Given the description of an element on the screen output the (x, y) to click on. 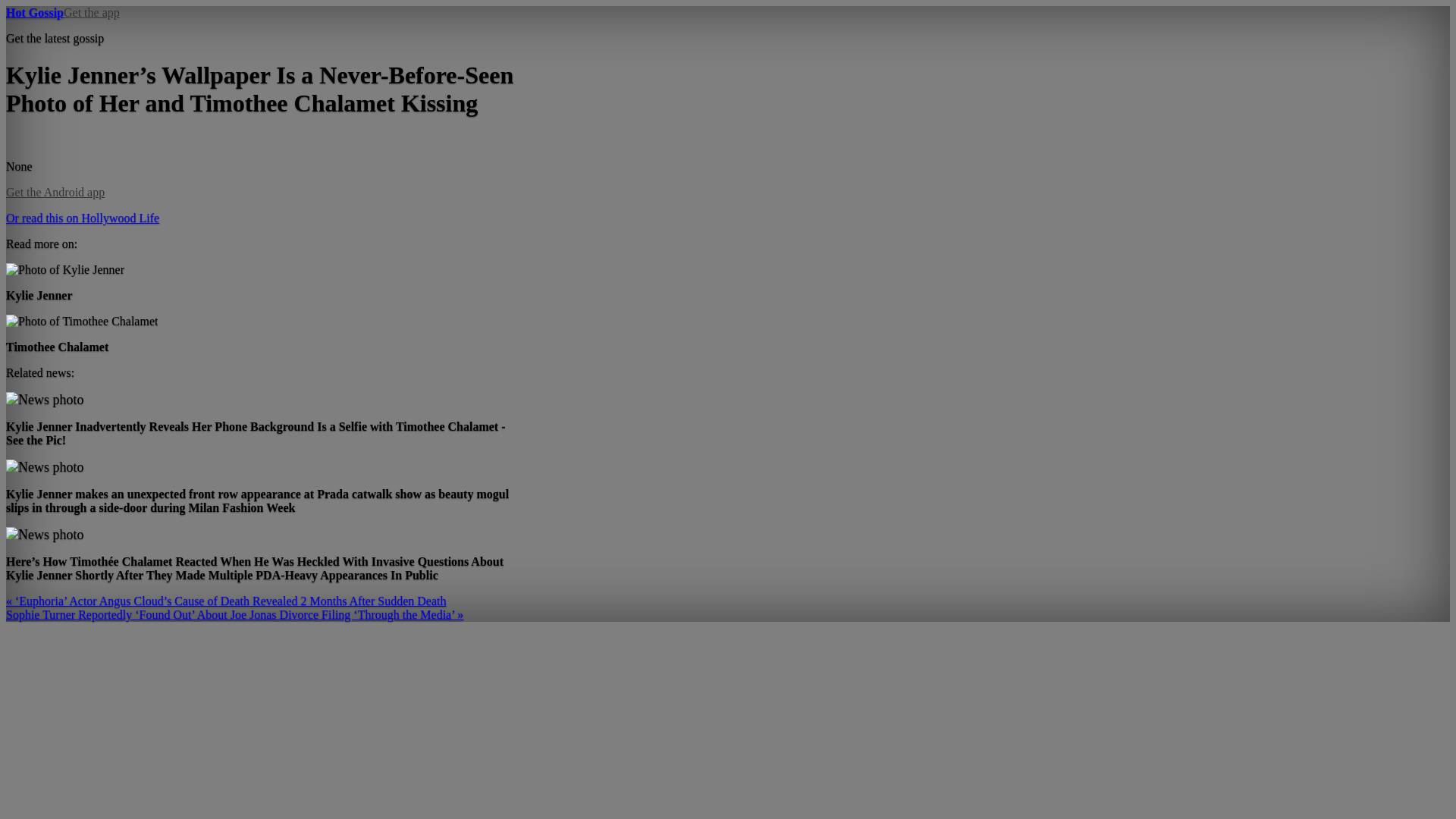
Hot Gossip (34, 11)
Get the app (91, 11)
Get the Android app (54, 192)
Or read this on Hollywood Life (81, 217)
